Given the description of an element on the screen output the (x, y) to click on. 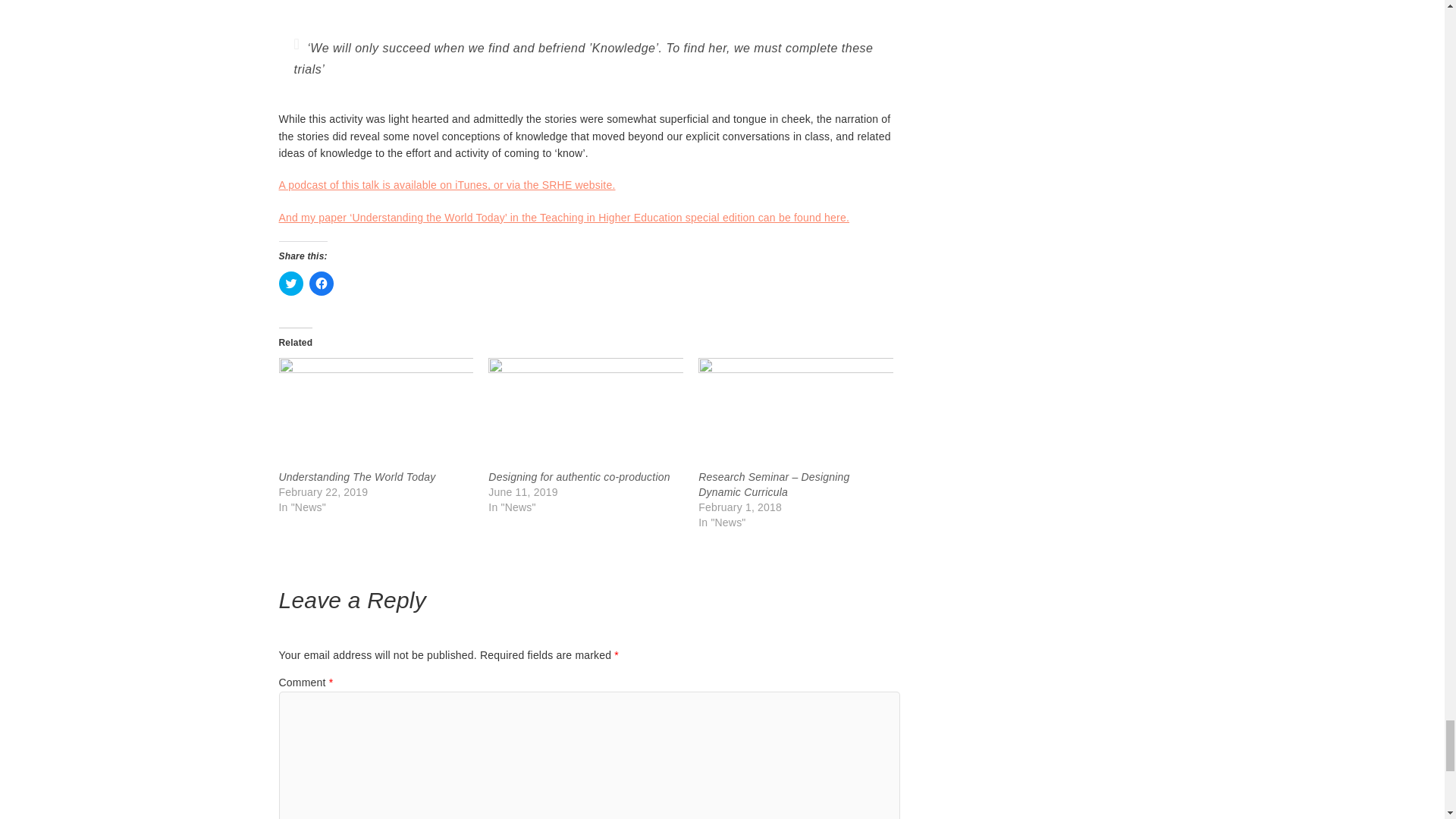
Click to share on Facebook (320, 283)
Designing for authentic co-production (578, 476)
Understanding The World Today (376, 413)
Understanding The World Today (357, 476)
Designing for authentic co-production (584, 413)
Click to share on Twitter (290, 283)
